Given the description of an element on the screen output the (x, y) to click on. 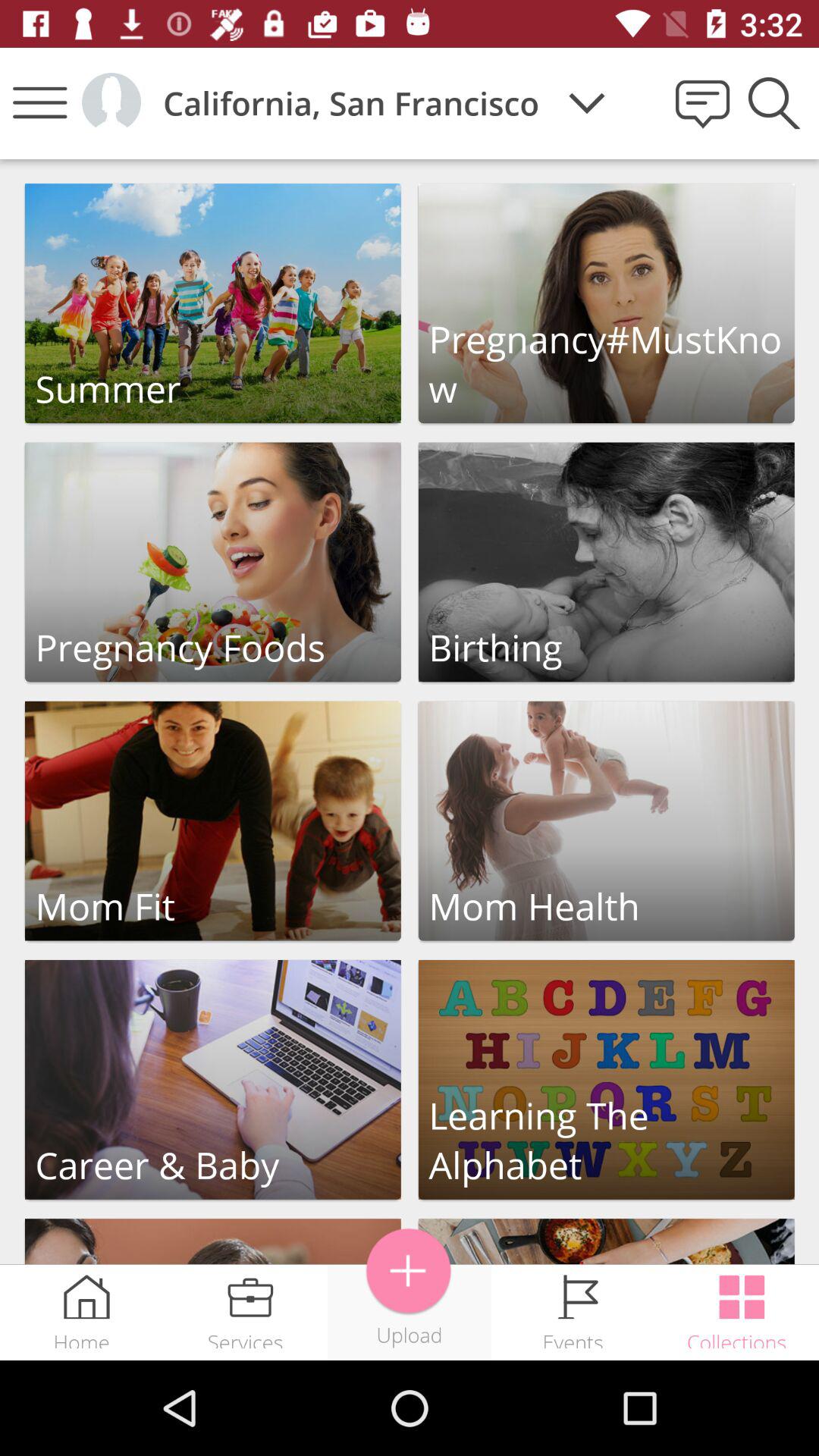
click the link (212, 820)
